Given the description of an element on the screen output the (x, y) to click on. 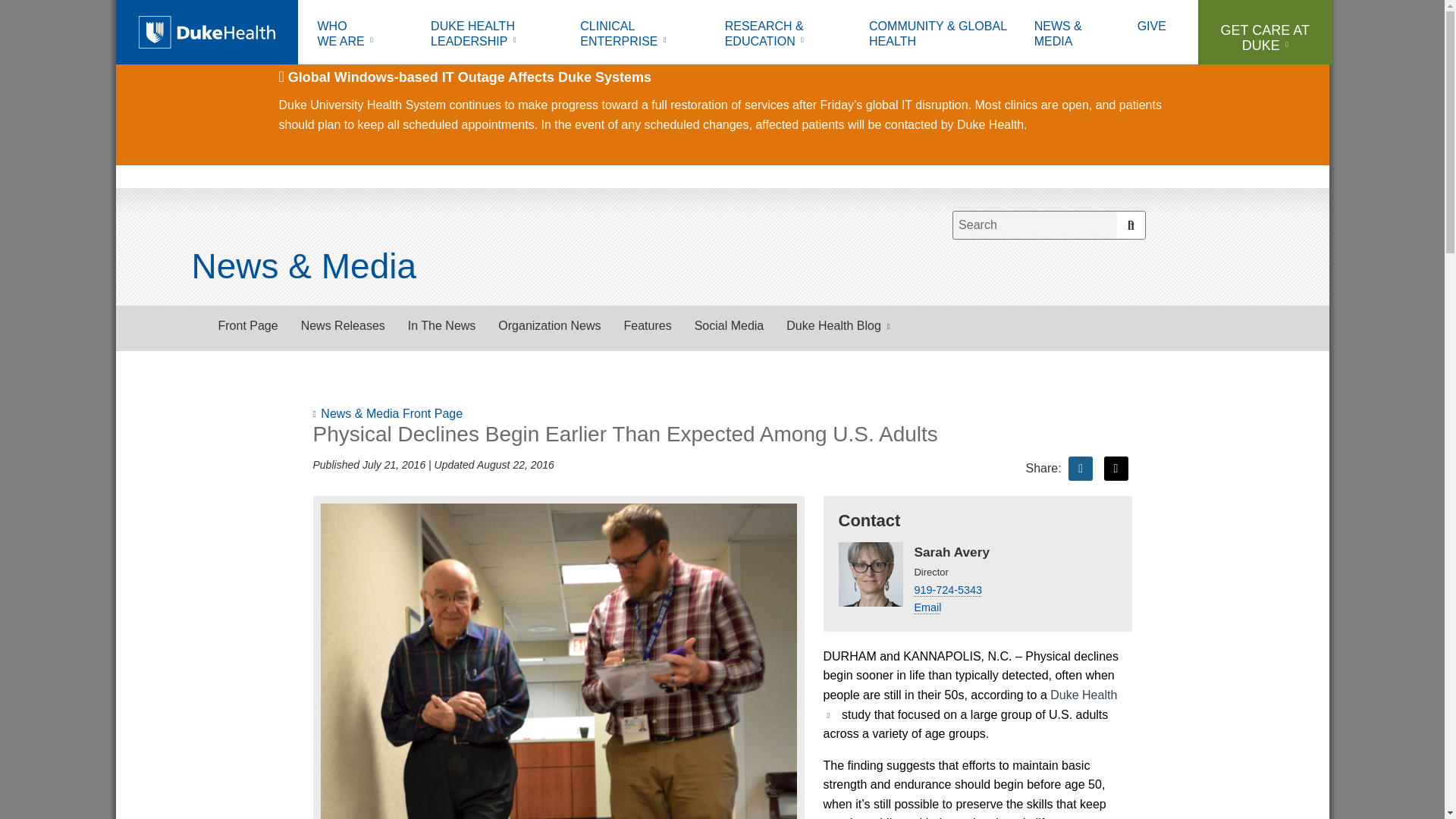
CLINICAL ENTERPRISE (641, 35)
DUKE HEALTH LEADERSHIP (494, 35)
